Given the description of an element on the screen output the (x, y) to click on. 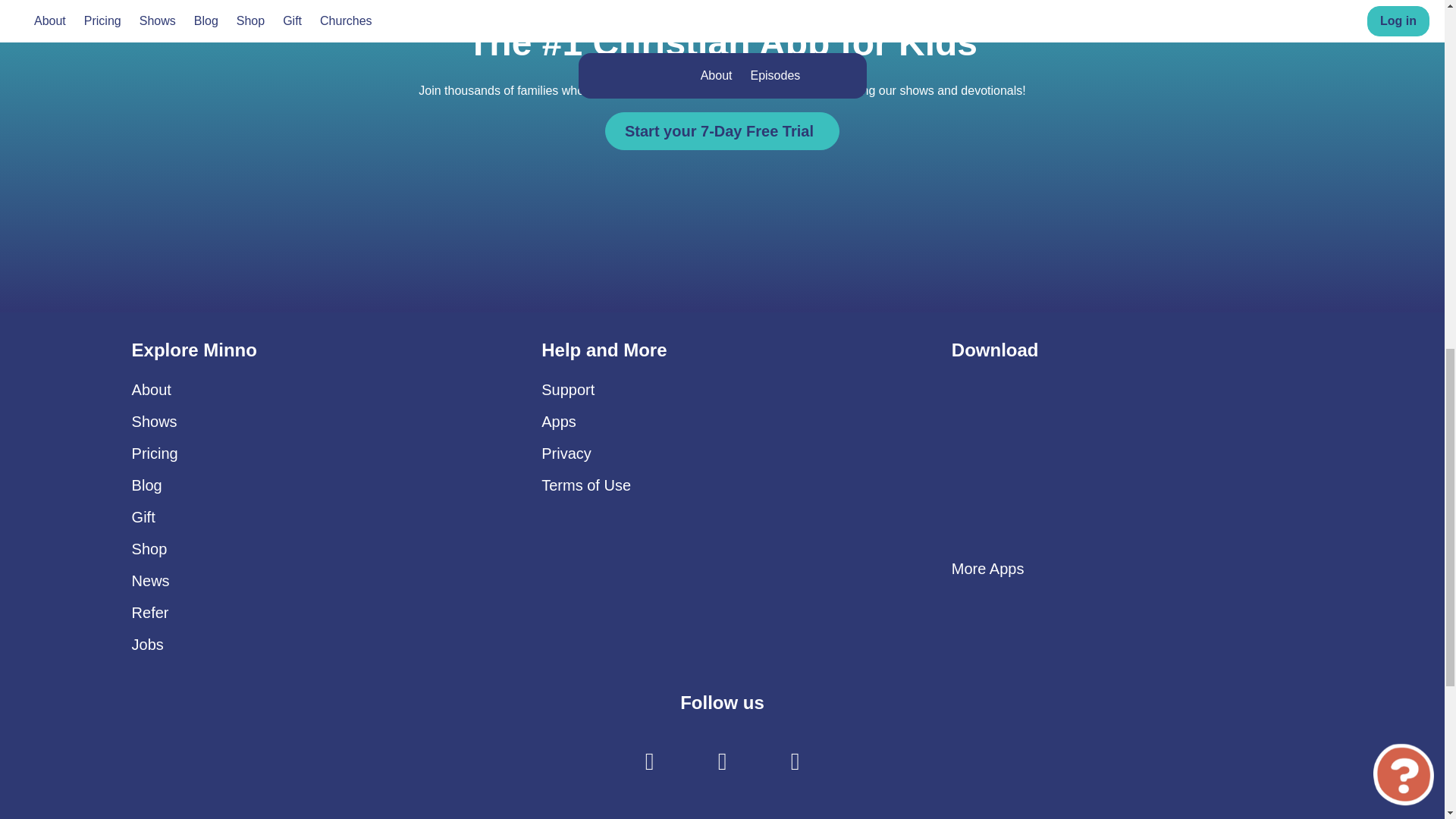
Privacy (566, 453)
Apps (558, 421)
Start your 7-Day Free Trial (722, 130)
Shows (154, 421)
Terms of Use (585, 484)
News (151, 580)
Gift (143, 516)
Blog (146, 484)
Refer (150, 612)
Shop (149, 548)
